Given the description of an element on the screen output the (x, y) to click on. 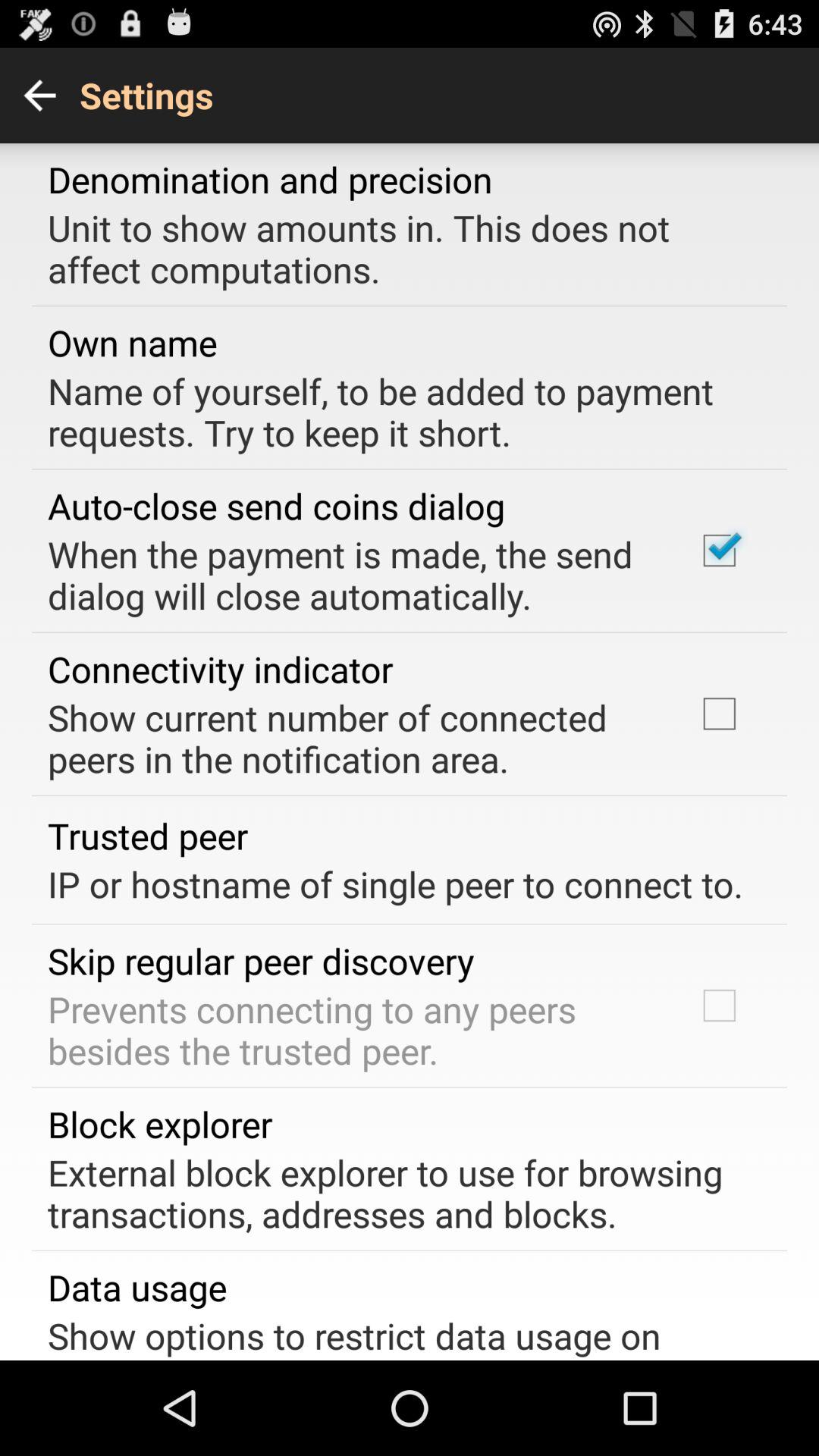
choose skip regular peer app (260, 960)
